Given the description of an element on the screen output the (x, y) to click on. 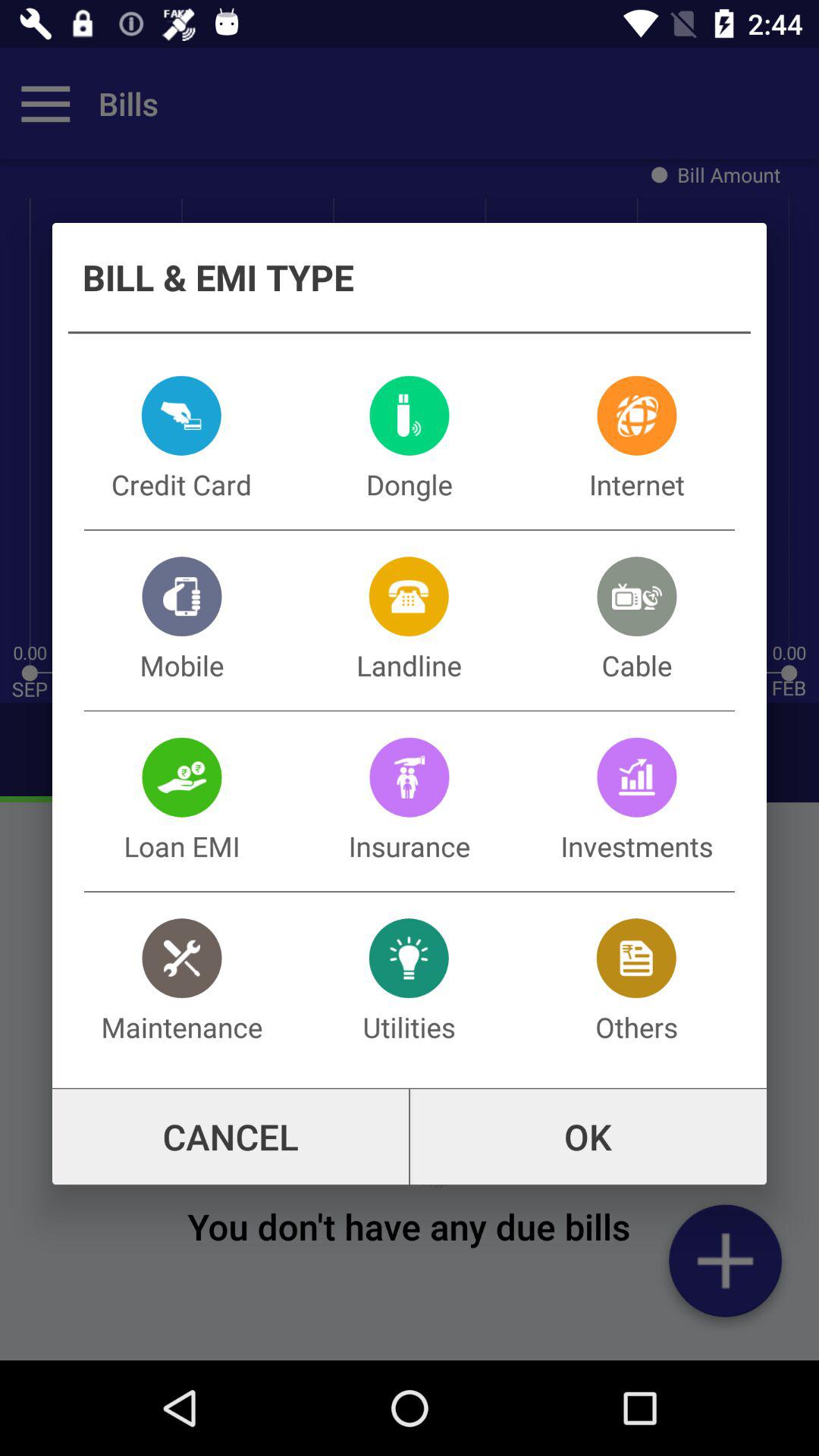
tap ok icon (588, 1136)
